Given the description of an element on the screen output the (x, y) to click on. 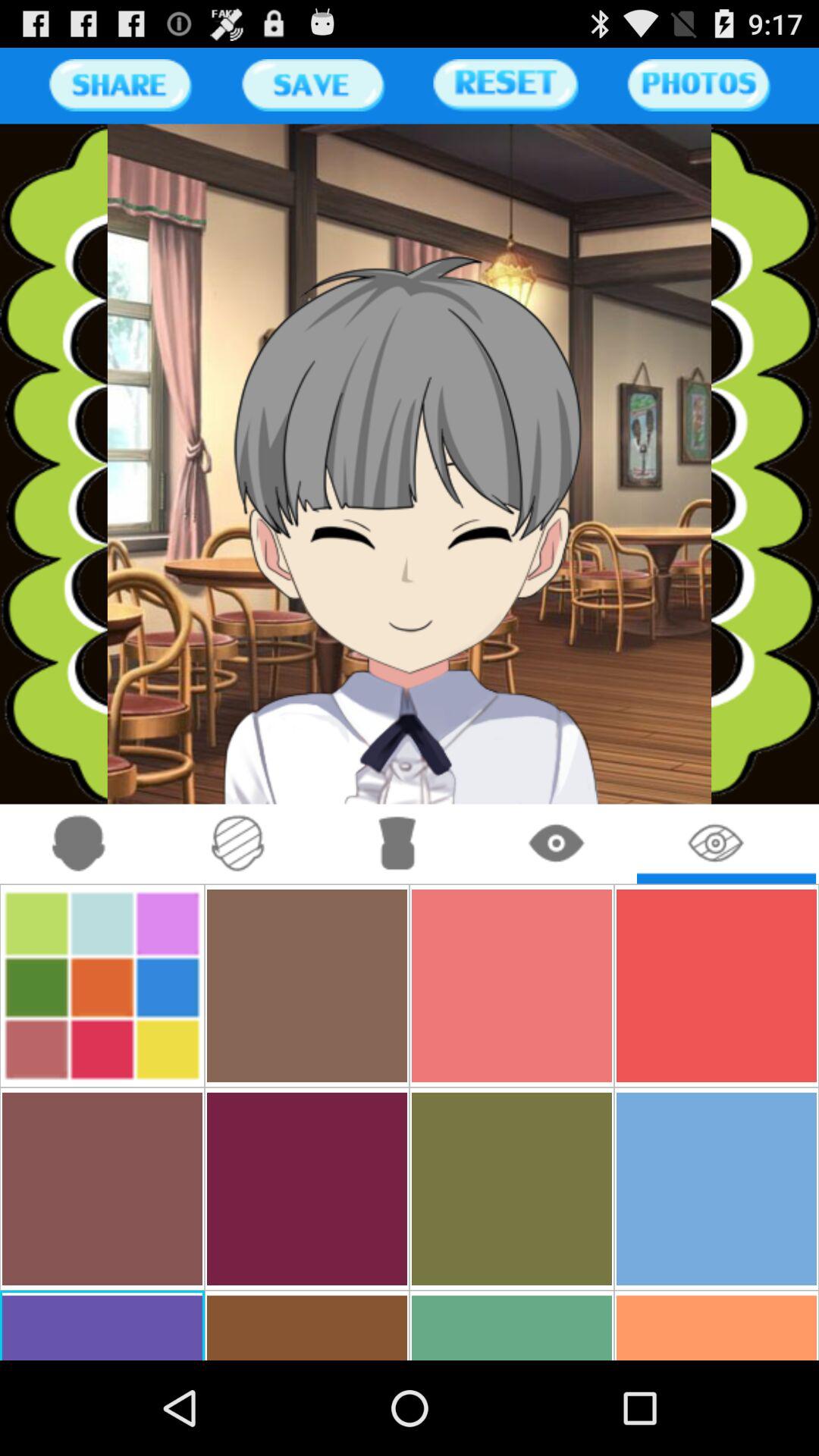
select avatar (79, 843)
